Given the description of an element on the screen output the (x, y) to click on. 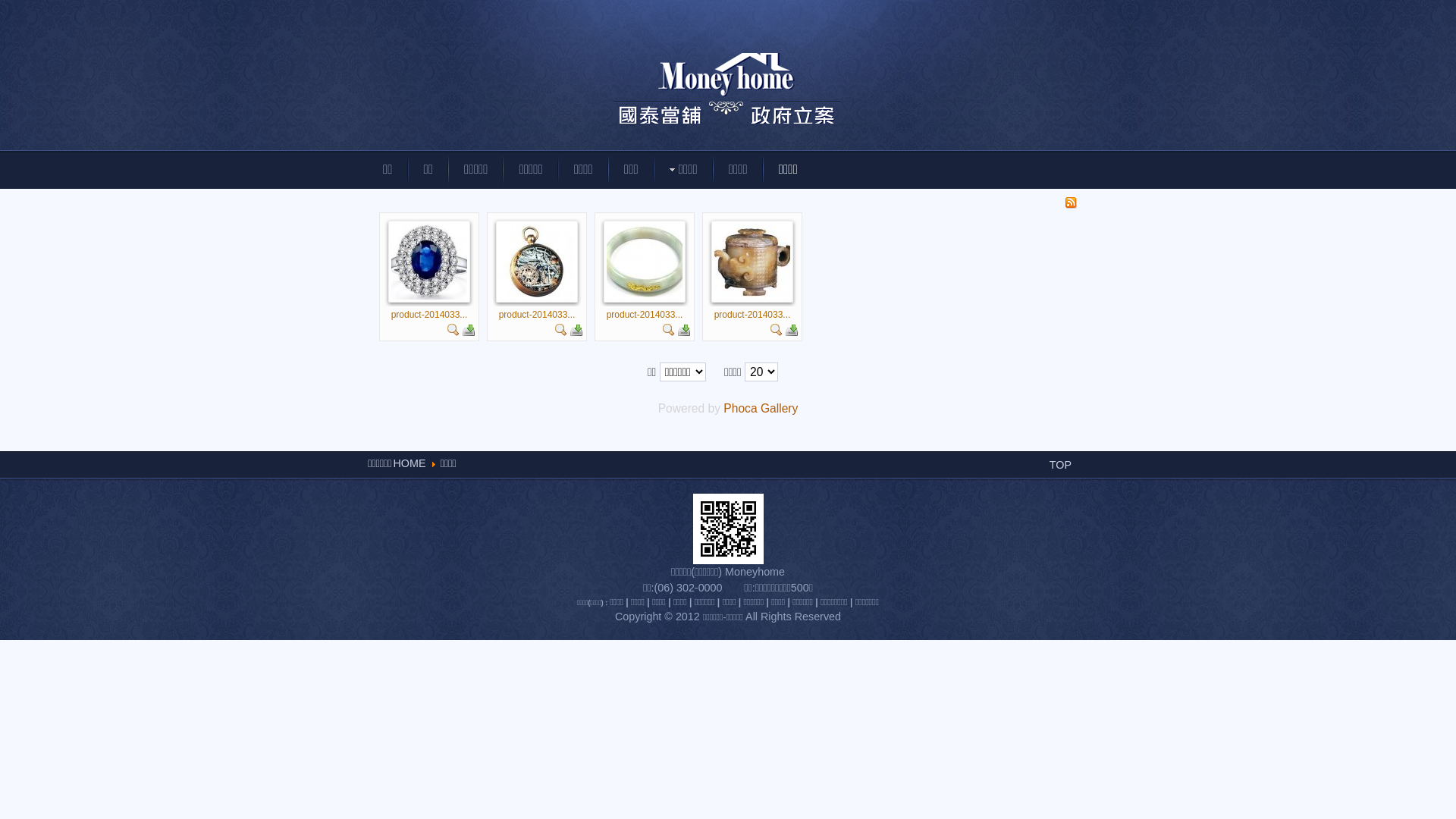
Gallery Element type: text (778, 407)
HOME Element type: text (408, 463)
TOP Element type: text (1060, 464)
Phoca Element type: text (739, 407)
RSS  Element type: hover (1070, 203)
